Given the description of an element on the screen output the (x, y) to click on. 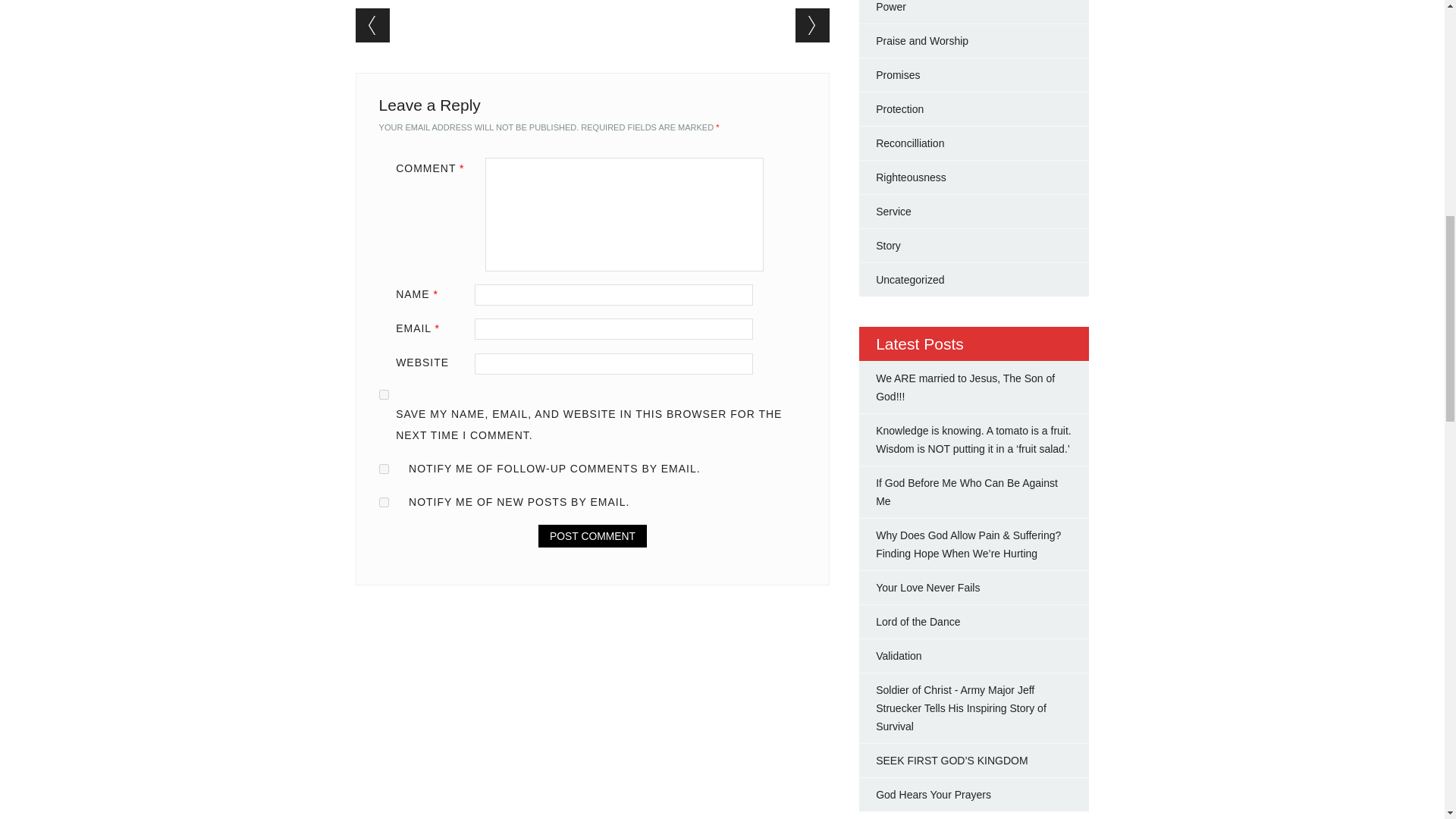
Look Lord of the Dance (917, 621)
Post Comment (592, 535)
Look We ARE married to Jesus, The Son of God!!! (965, 387)
Service (893, 211)
yes (383, 394)
Look Validation (898, 655)
Righteousness (911, 177)
Look If God Before Me Who Can Be Against Me (967, 491)
subscribe (383, 469)
subscribe (383, 501)
